Given the description of an element on the screen output the (x, y) to click on. 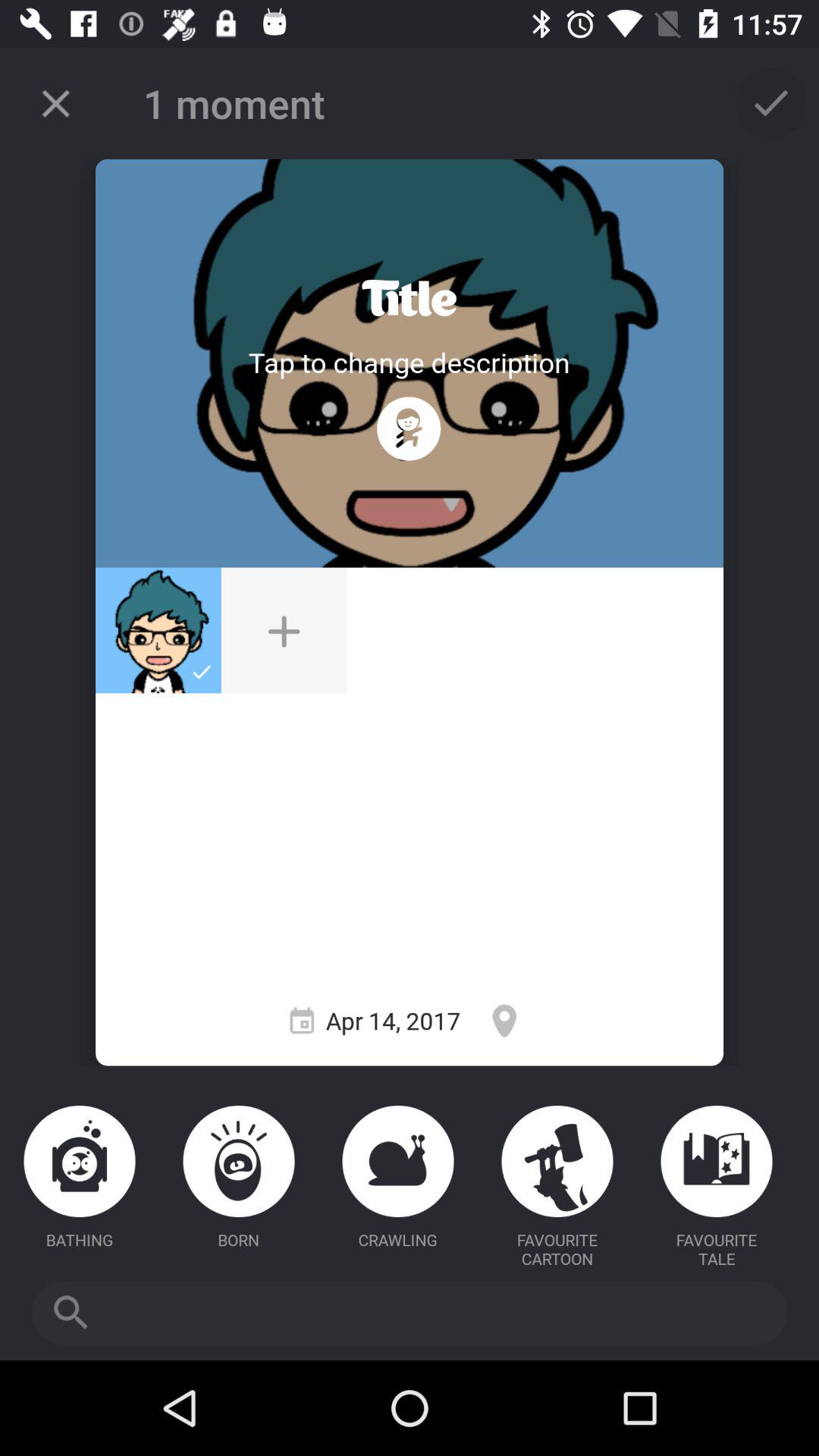
click the icon next to 1 moment (55, 103)
